Given the description of an element on the screen output the (x, y) to click on. 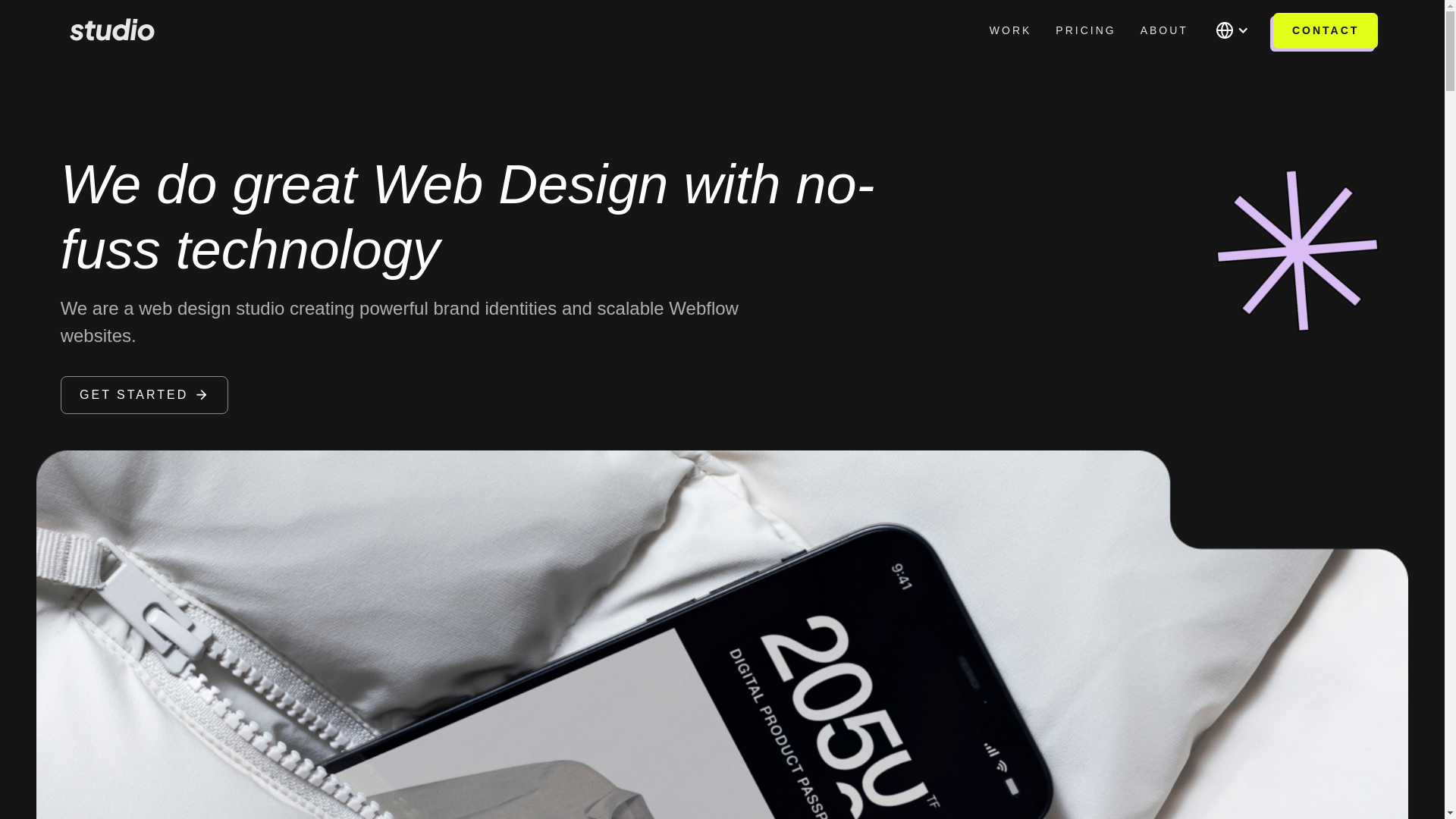
WORK (1009, 30)
ABOUT (1163, 30)
CONTACT (1324, 29)
GET STARTED (144, 394)
PRICING (1084, 30)
